Given the description of an element on the screen output the (x, y) to click on. 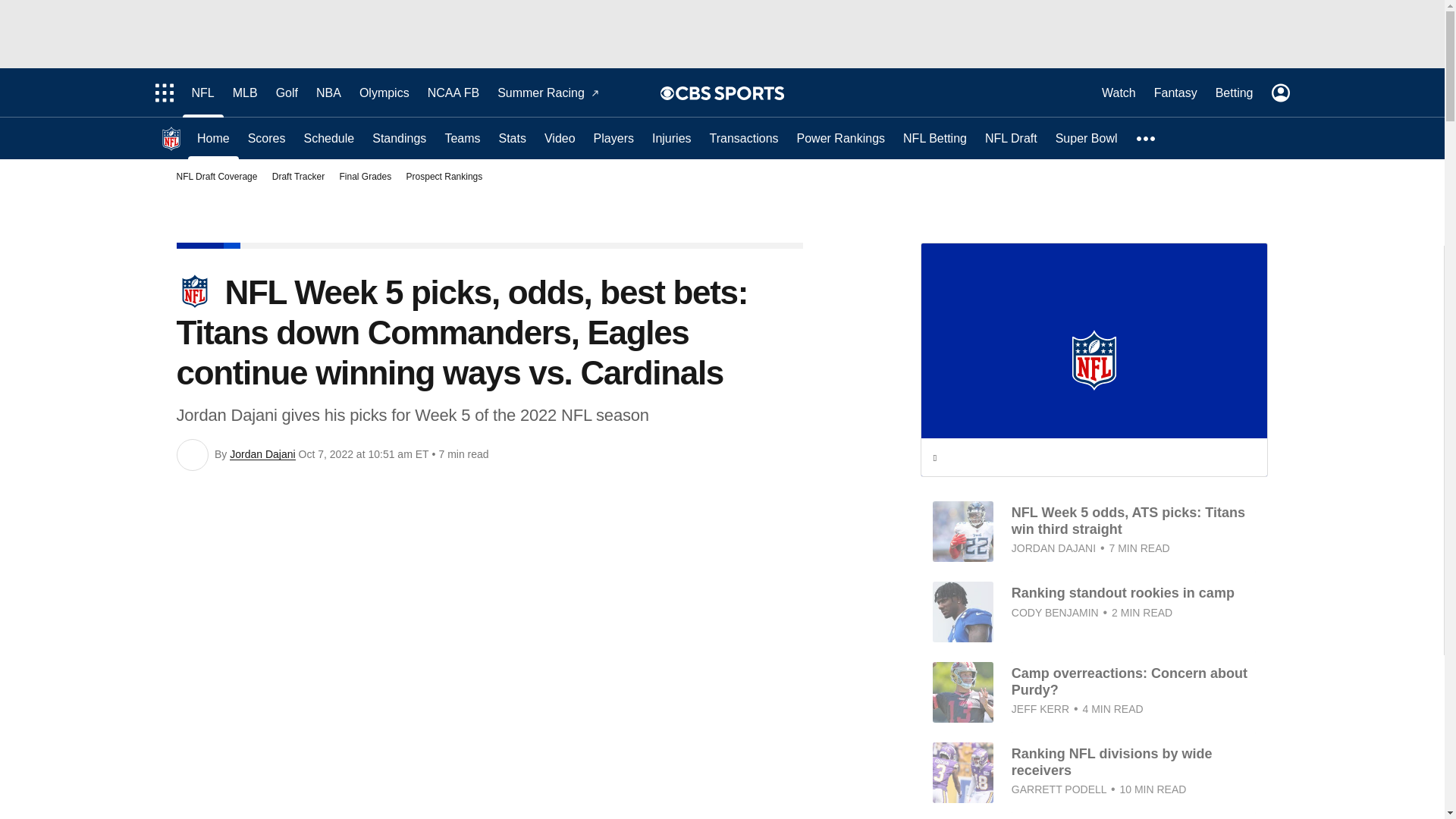
CBS Logo (729, 92)
CBS Eye (667, 92)
